Given the description of an element on the screen output the (x, y) to click on. 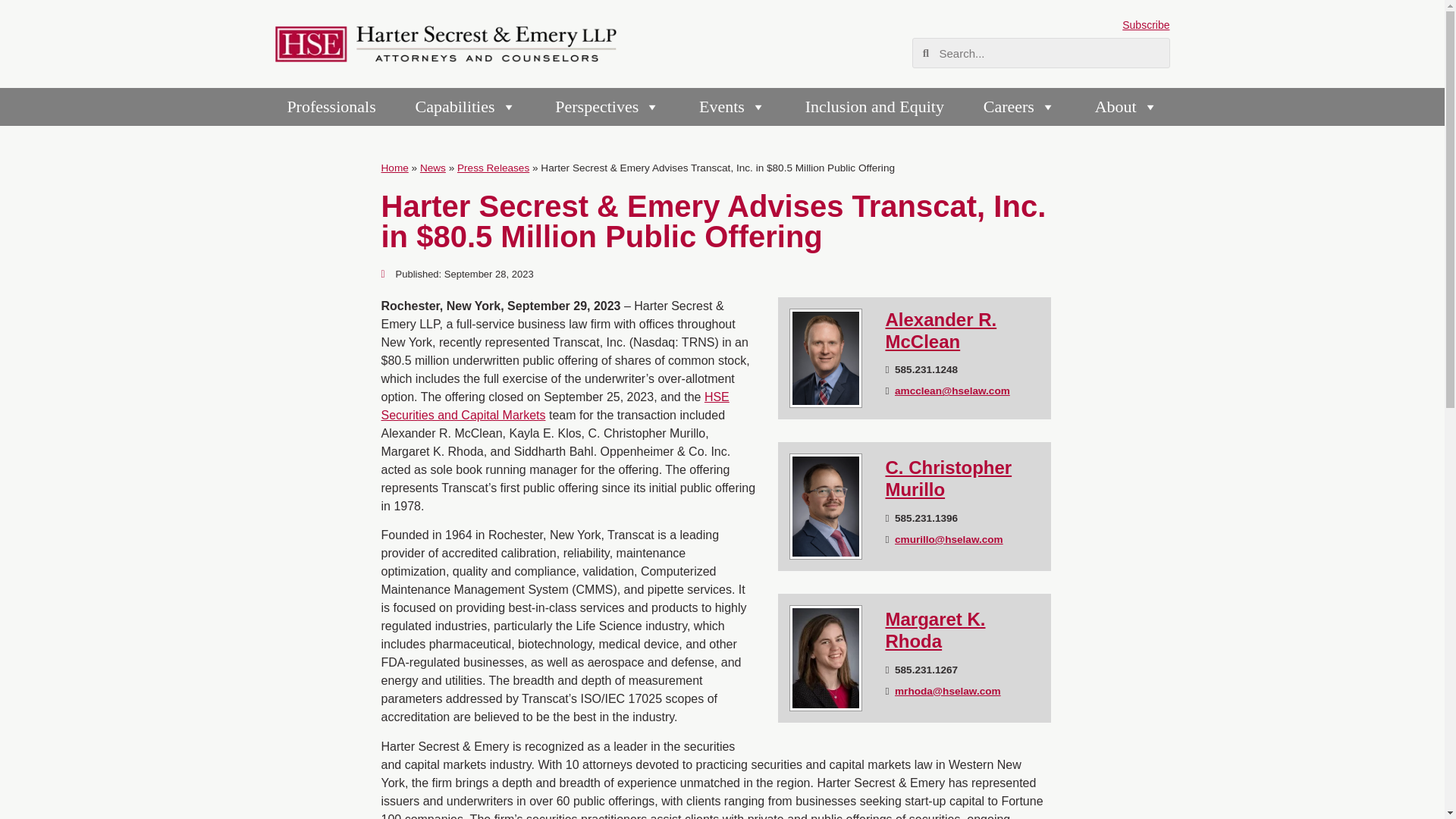
Capabilities (465, 106)
Professionals (330, 106)
Subscribe (1145, 24)
